Given the description of an element on the screen output the (x, y) to click on. 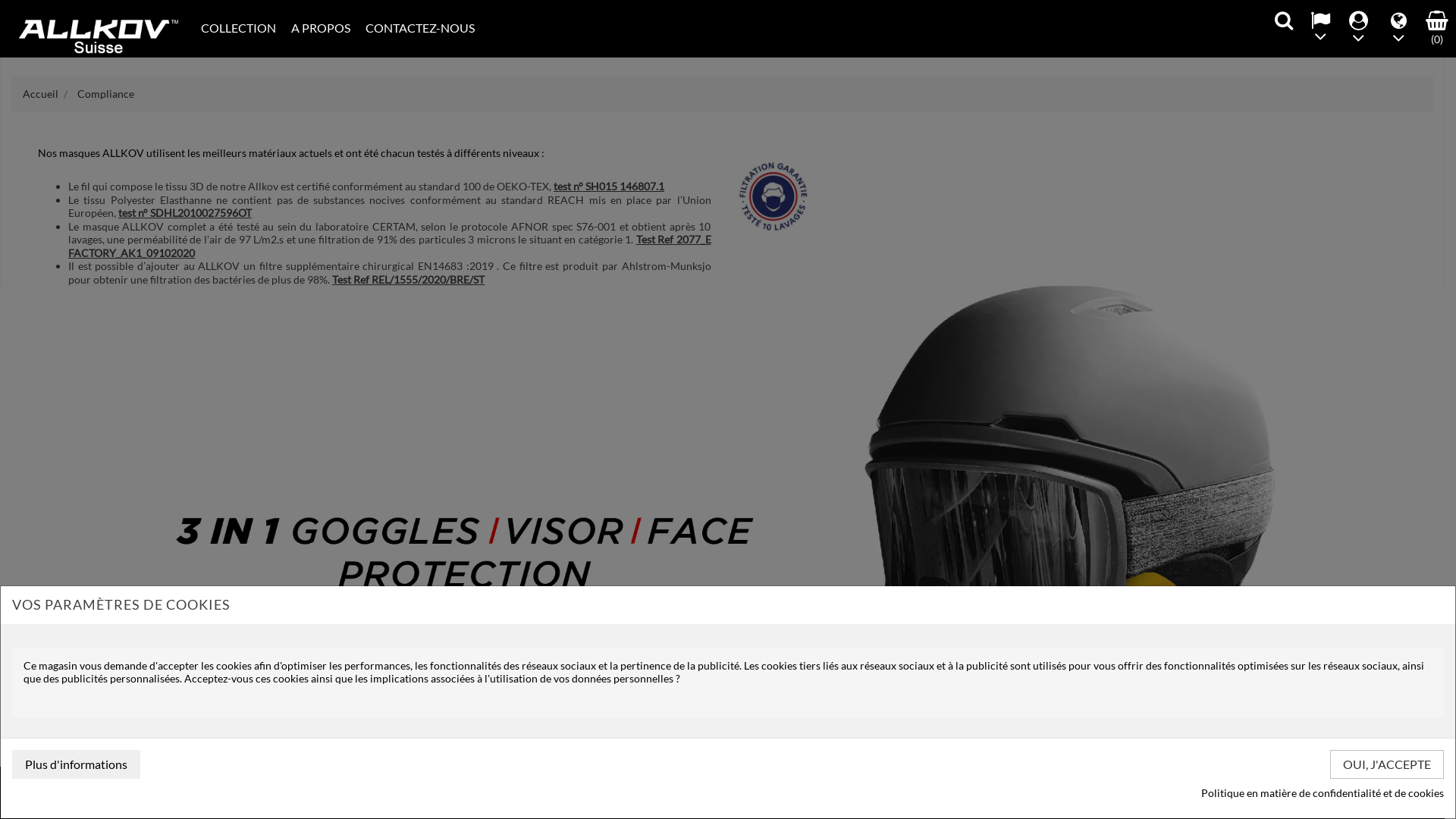
Instagram Element type: text (733, 793)
Accueil Element type: text (41, 93)
Plus d'informations Element type: text (76, 763)
A PROPOS Element type: text (320, 27)
Compliance Element type: text (105, 93)
Facebook Element type: text (700, 793)
COLLECTION Element type: text (238, 27)
Oui, j'accepte Element type: text (1386, 763)
CONTACTEZ-NOUS Element type: text (419, 27)
